Given the description of an element on the screen output the (x, y) to click on. 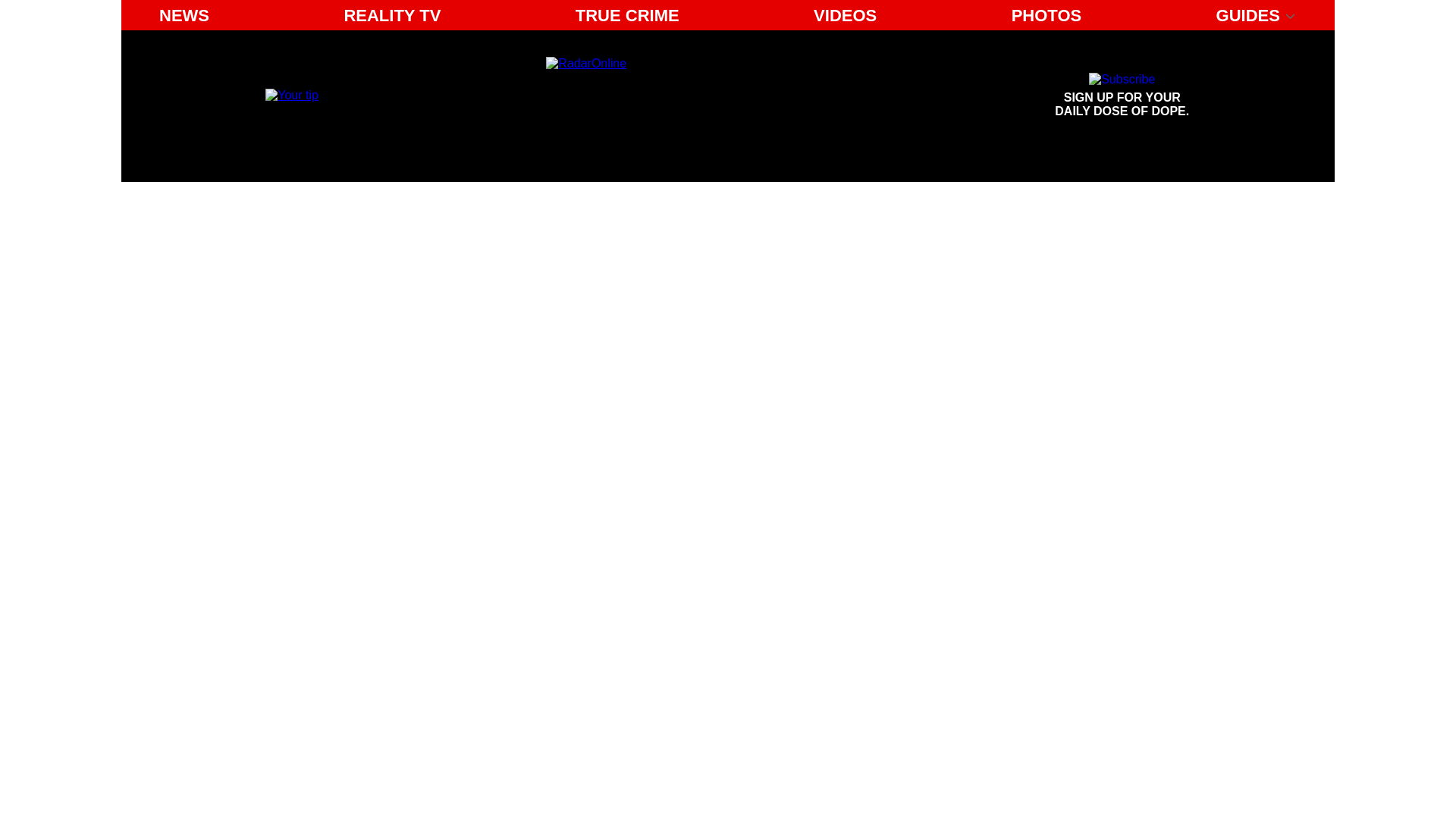
TRUE CRIME (627, 15)
NEWS (183, 15)
REALITY TV (392, 15)
Email us your tip (291, 94)
Sign up for your daily dose of dope. (1122, 94)
VIDEOS (844, 15)
PHOTOS (1046, 15)
Radar Online (1122, 94)
